Given the description of an element on the screen output the (x, y) to click on. 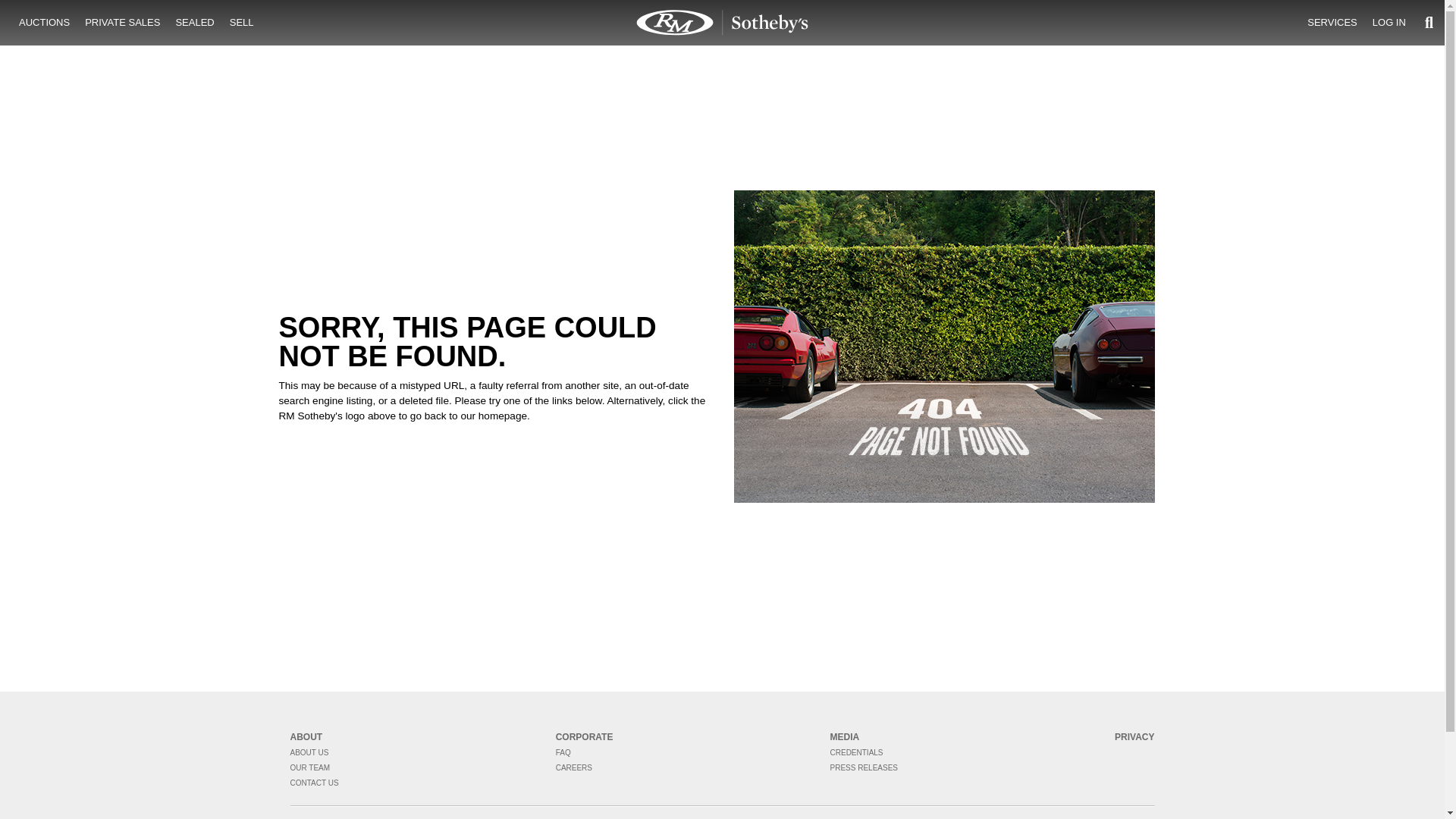
SELL (242, 22)
PRIVATE SALES (122, 22)
SEALED (194, 22)
AUCTIONS (44, 22)
